Given the description of an element on the screen output the (x, y) to click on. 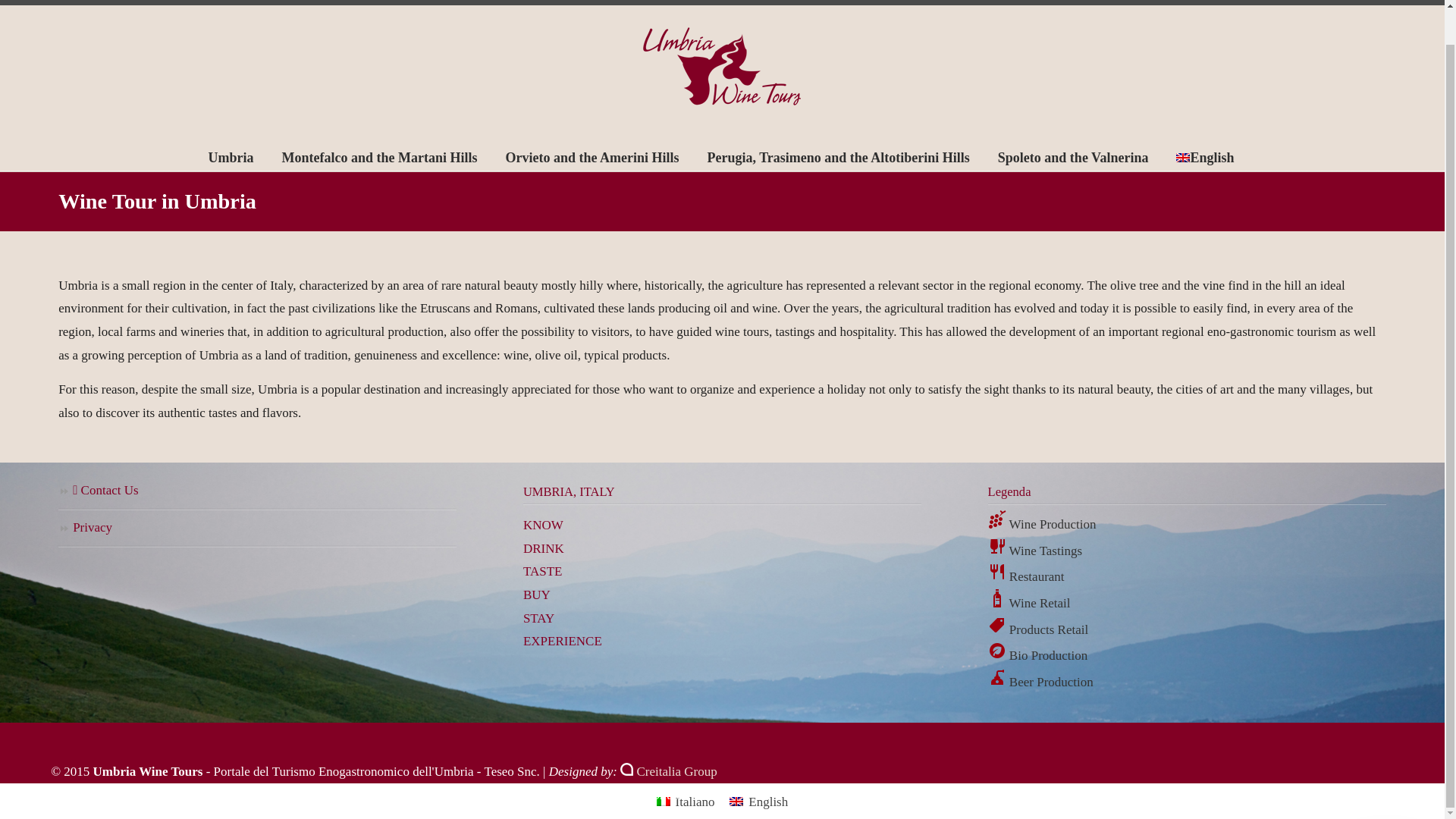
Montefalco and the Martani Hills (379, 157)
Umbria Wine Tours (722, 66)
Perugia, Trasimeno and the Altotiberini Hills (837, 157)
STAY (538, 617)
BUY (536, 594)
English (1204, 157)
Spoleto and the Valnerina (1072, 157)
DRINK (543, 548)
Privacy (257, 528)
EXPERIENCE (562, 640)
Umbria (231, 157)
Umbria Wine Tours (722, 66)
English (758, 801)
KNOW (542, 524)
Italiano (685, 801)
